Given the description of an element on the screen output the (x, y) to click on. 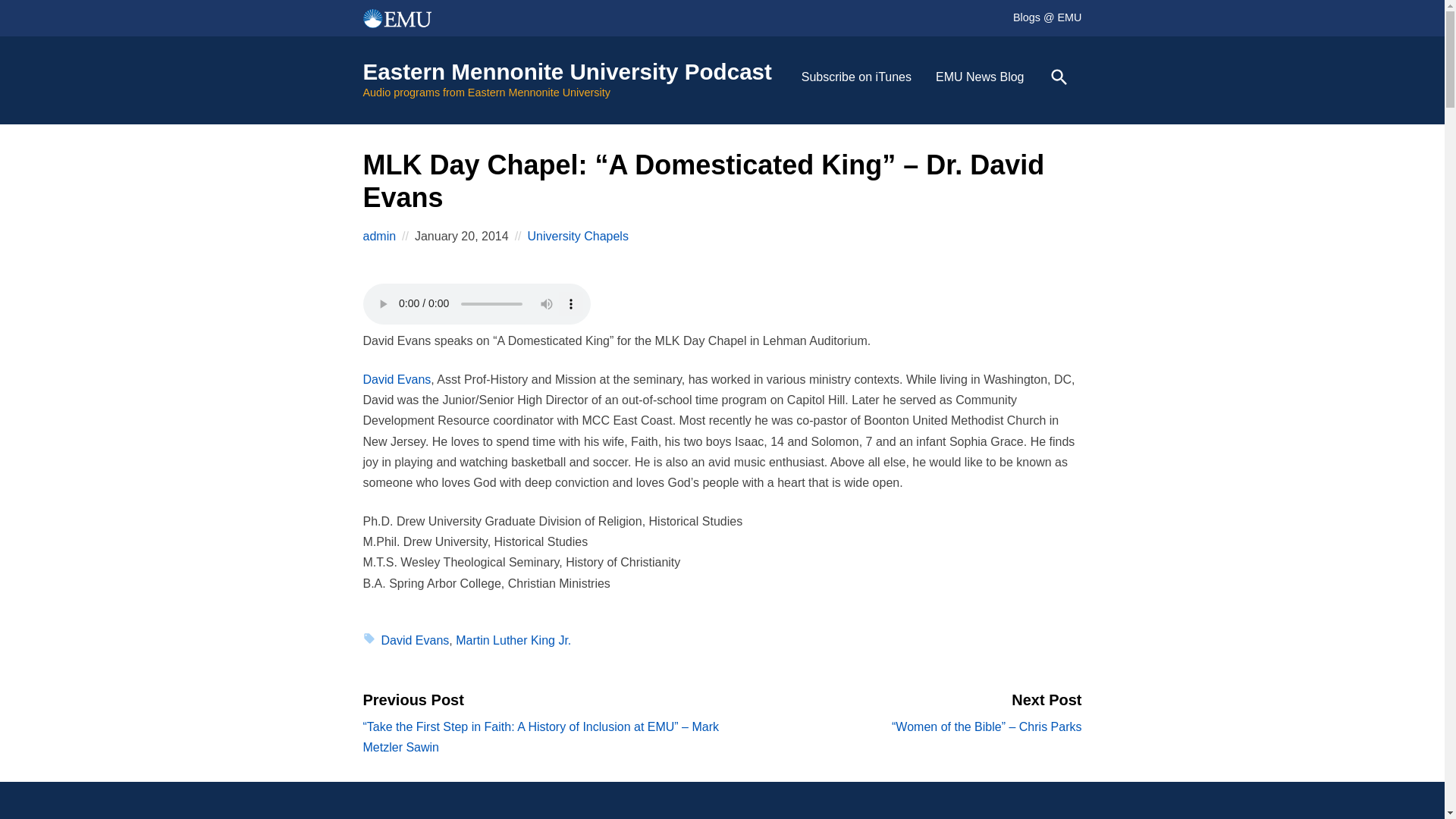
University Chapels (577, 236)
David Evans (414, 640)
David Evans (396, 379)
EMU News Blog (979, 76)
Eastern Mennonite University Podcast (566, 71)
admin (379, 236)
Subscribe on iTunes (856, 76)
Martin Luther King Jr. (512, 640)
Search (1058, 76)
